Given the description of an element on the screen output the (x, y) to click on. 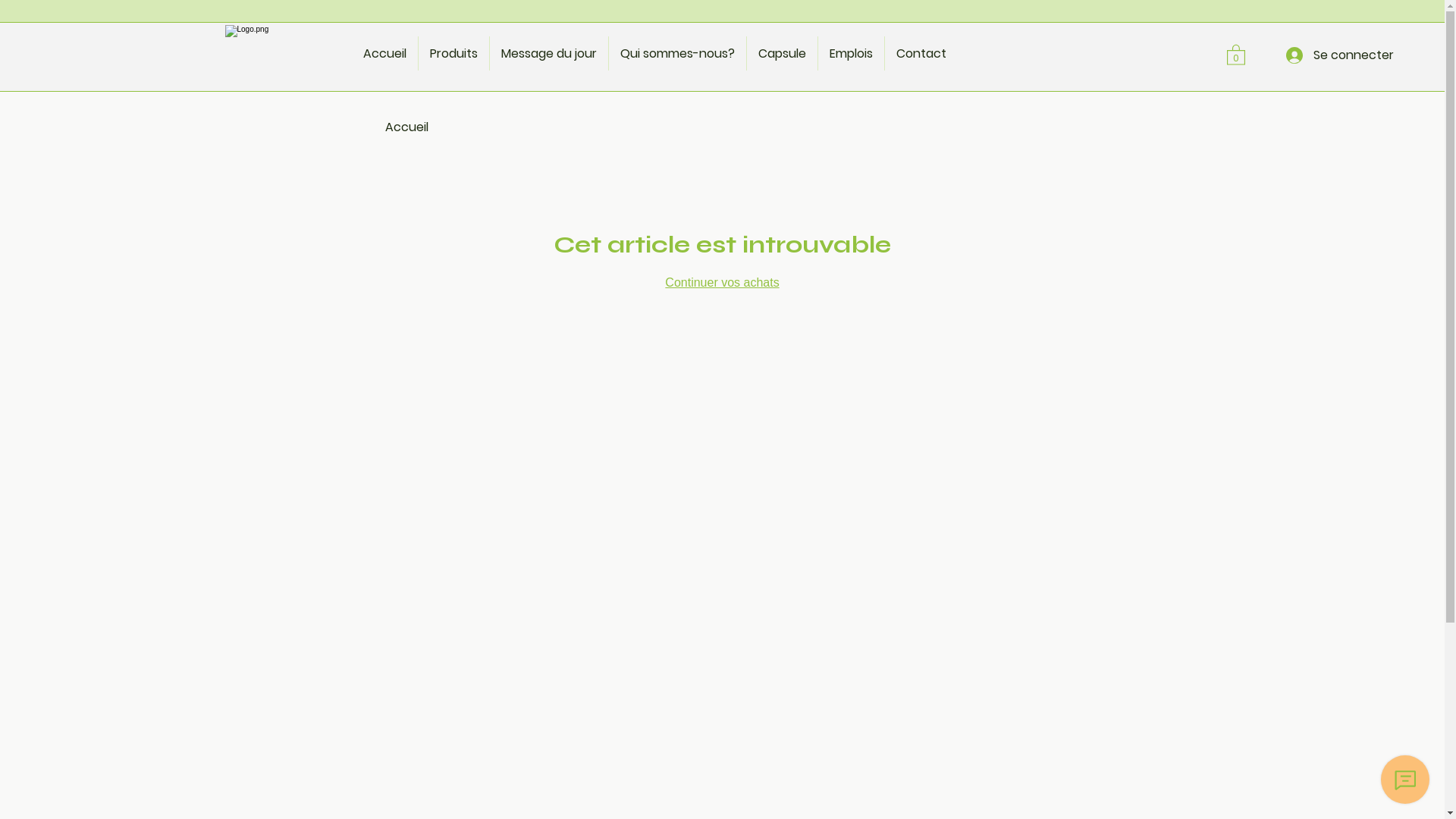
Accueil Element type: text (406, 126)
Accueil Element type: text (384, 53)
Produits Element type: text (453, 53)
Emplois Element type: text (850, 53)
Message du jour Element type: text (548, 53)
Continuer vos achats Element type: text (721, 282)
Se connecter Element type: text (1339, 54)
0 Element type: text (1235, 54)
Contact Element type: text (920, 53)
Capsule Element type: text (781, 53)
Qui sommes-nous? Element type: text (676, 53)
